Given the description of an element on the screen output the (x, y) to click on. 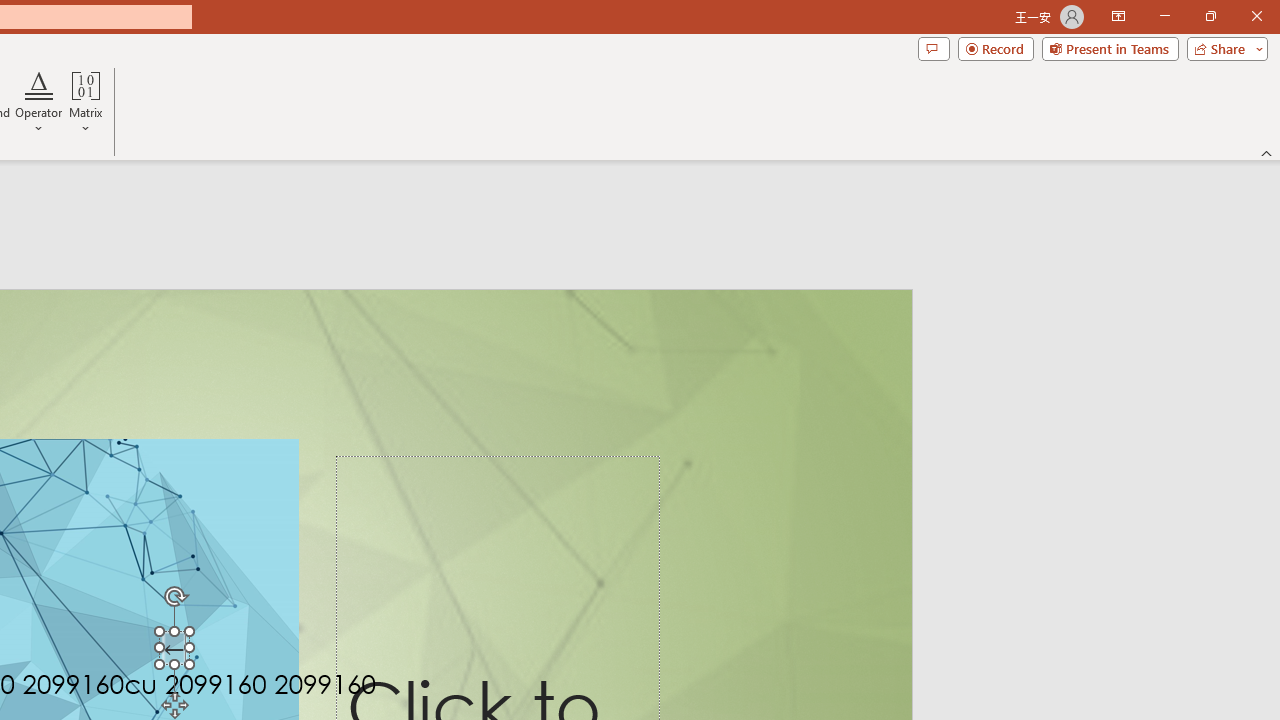
Matrix (86, 102)
Operator (38, 102)
